Given the description of an element on the screen output the (x, y) to click on. 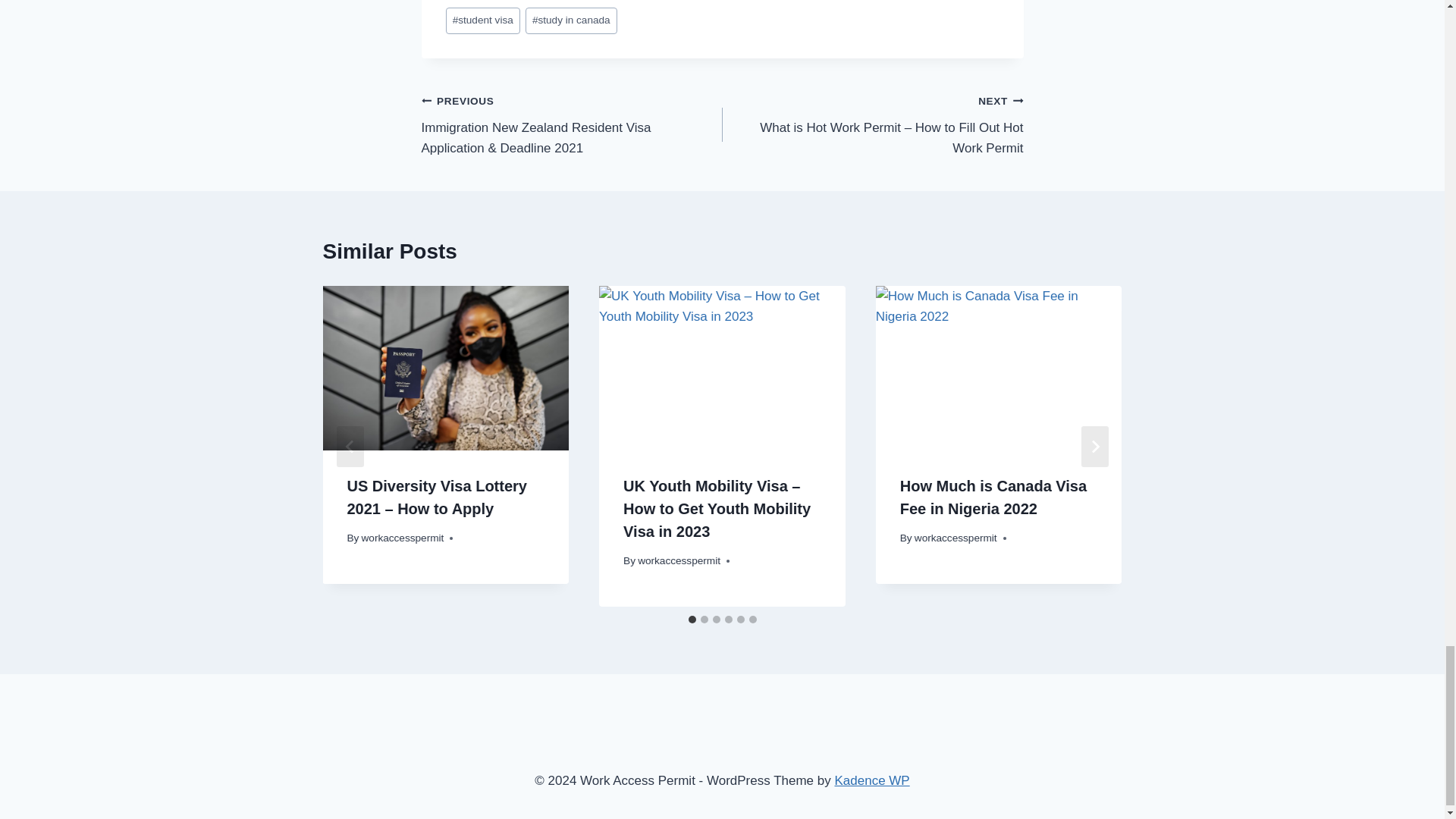
student visa (482, 20)
study in canada (571, 20)
